Given the description of an element on the screen output the (x, y) to click on. 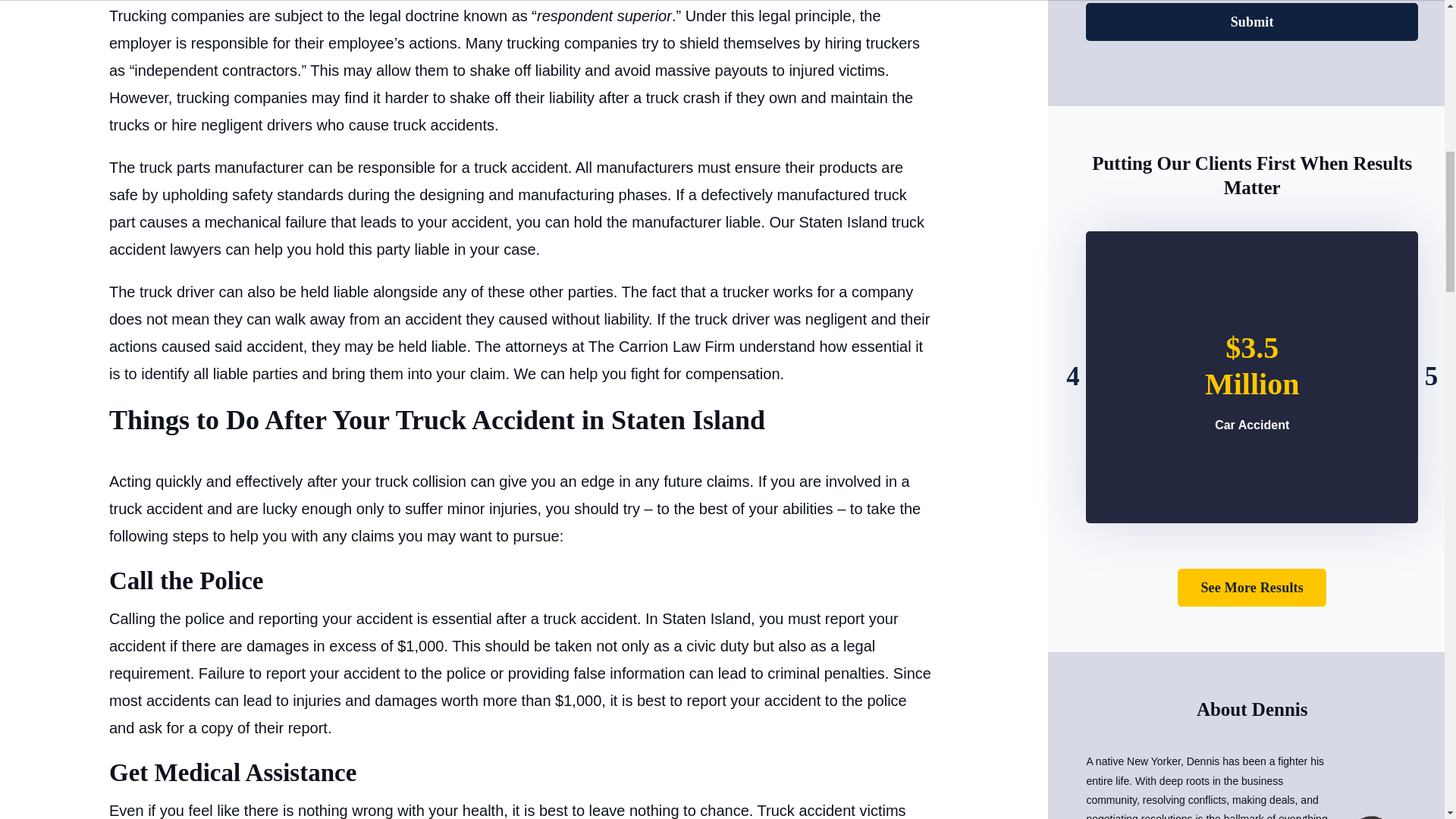
Submit (1252, 21)
